Given the description of an element on the screen output the (x, y) to click on. 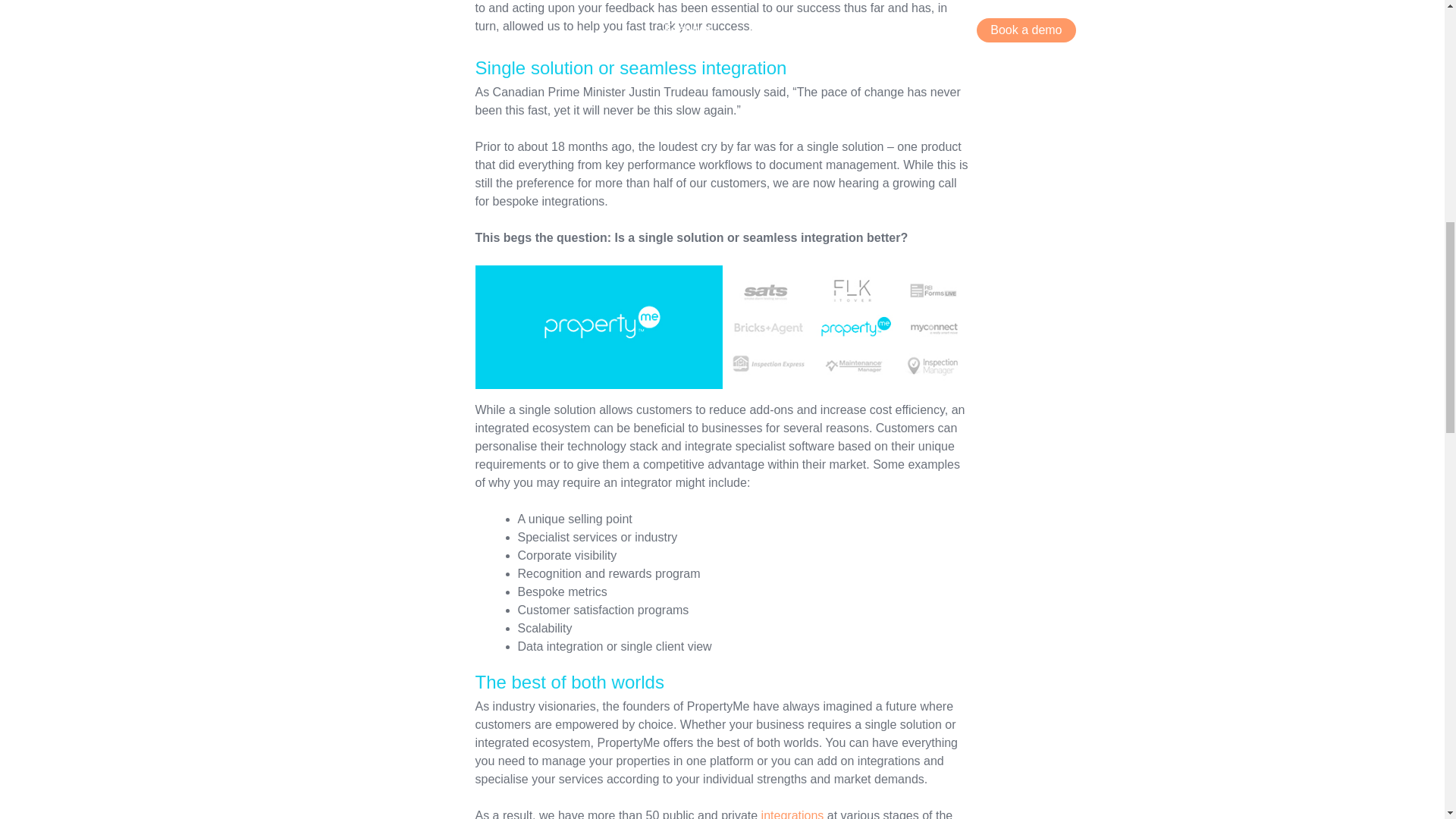
integrations (792, 814)
